Given the description of an element on the screen output the (x, y) to click on. 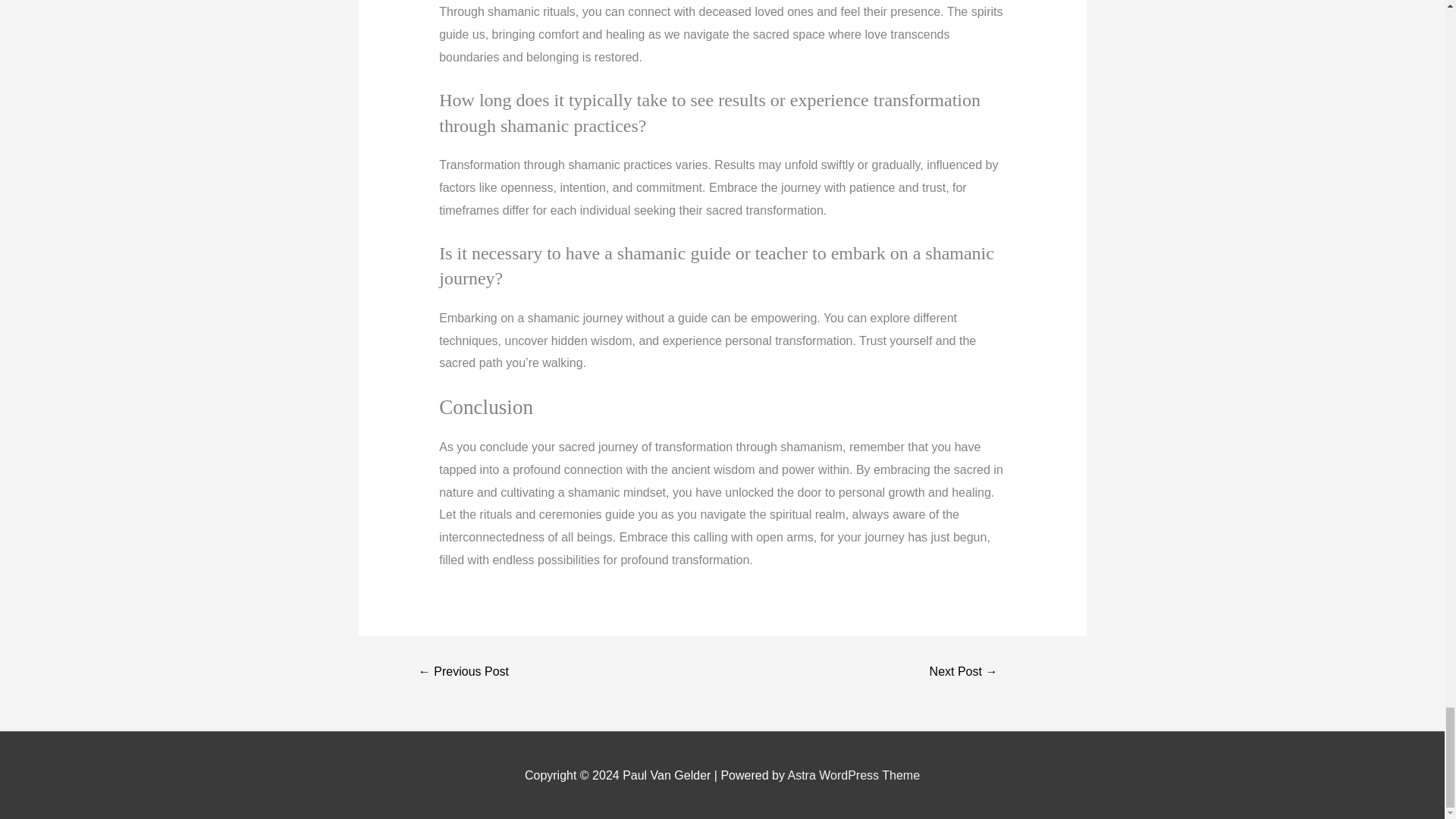
Astra WordPress Theme (853, 775)
How Can I Improve Myself as a Woman? (463, 671)
Crafting Effective Spells for Beginners (962, 671)
